Given the description of an element on the screen output the (x, y) to click on. 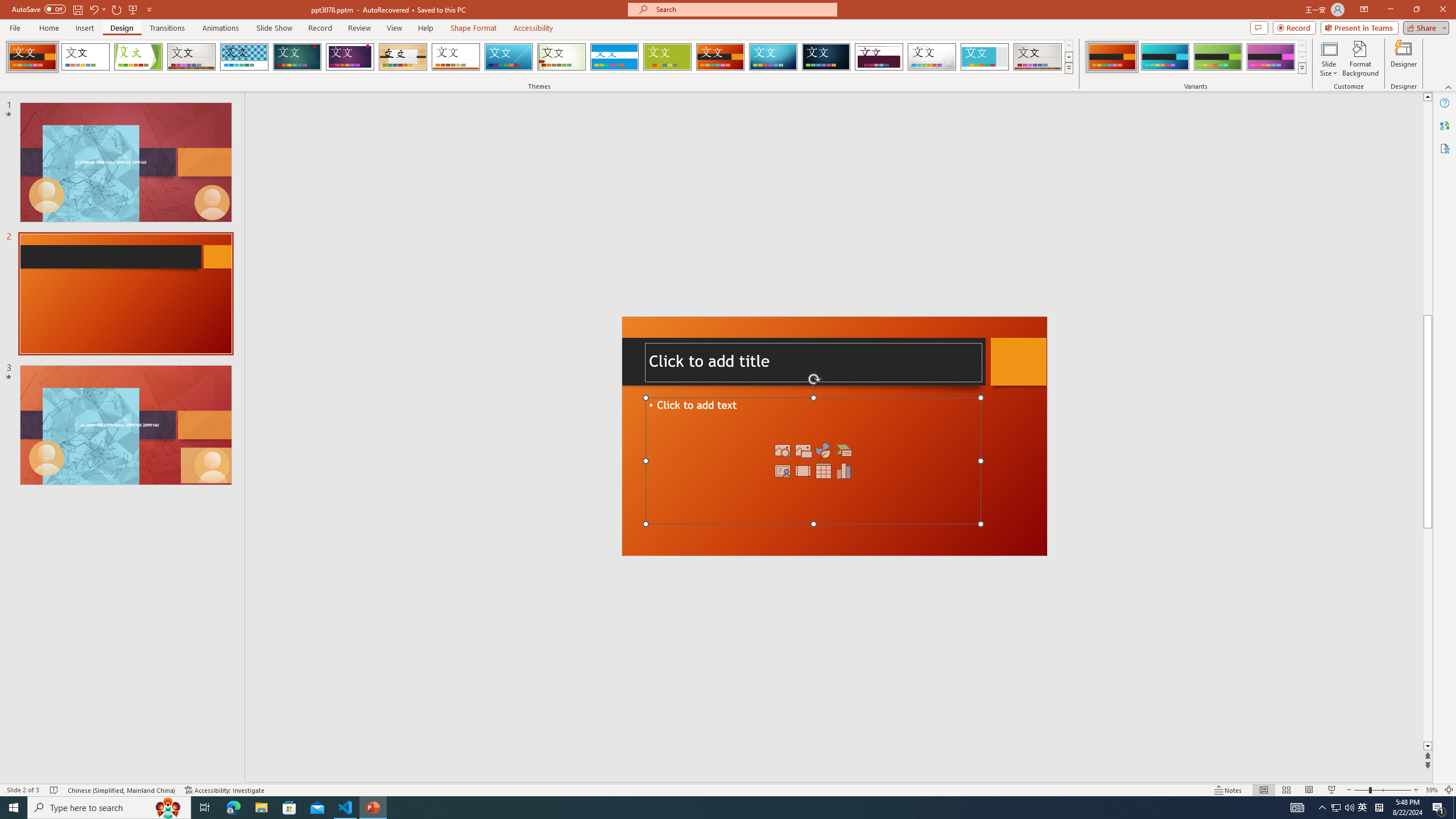
Dividend (879, 56)
Themes (1068, 67)
Page down (1427, 634)
Facet (138, 56)
Droplet (931, 56)
Wisp (561, 56)
Insert Table (822, 470)
